Given the description of an element on the screen output the (x, y) to click on. 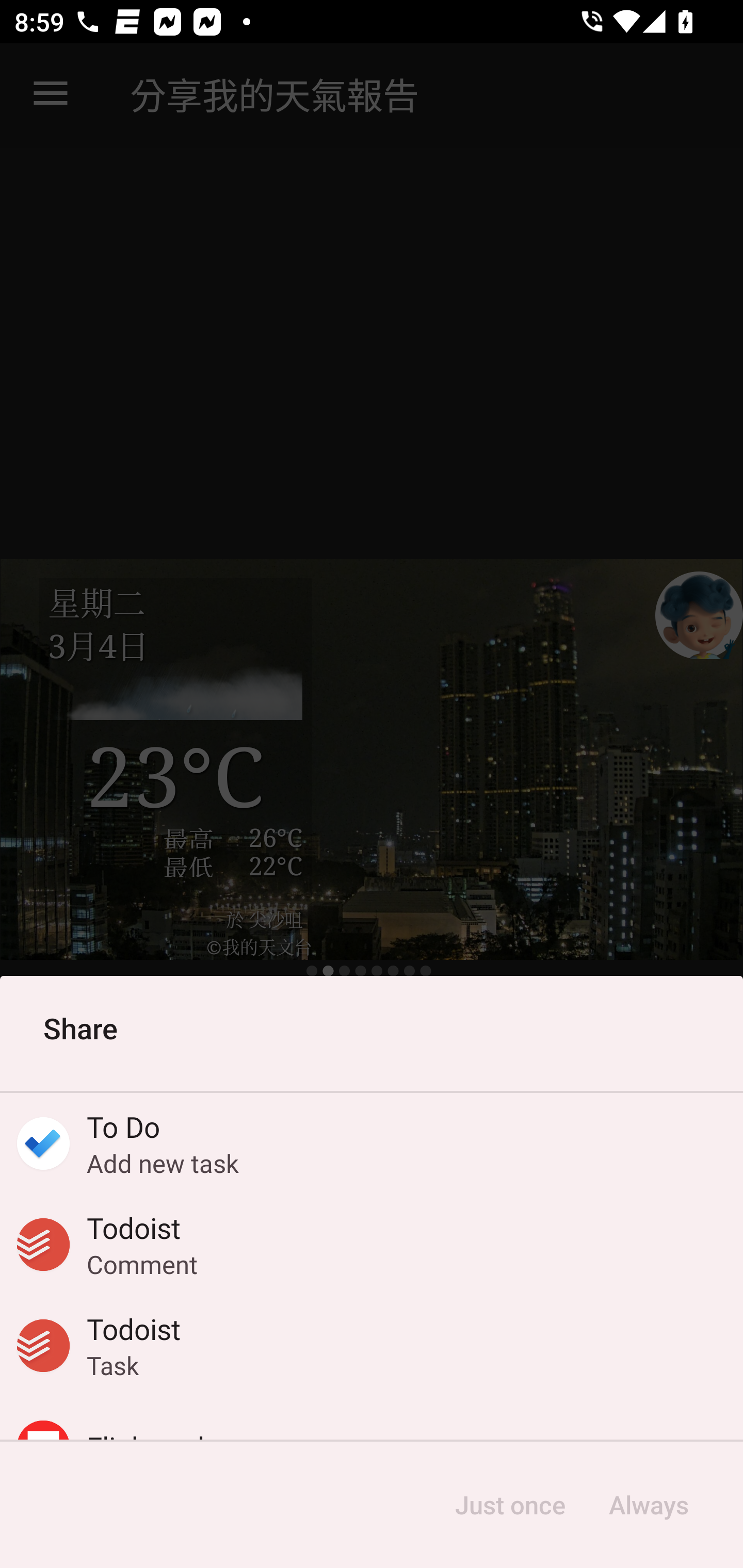
To Do Add new task (371, 1143)
Todoist Comment (371, 1244)
Todoist Task (371, 1345)
Just once (509, 1504)
Always (648, 1504)
